Given the description of an element on the screen output the (x, y) to click on. 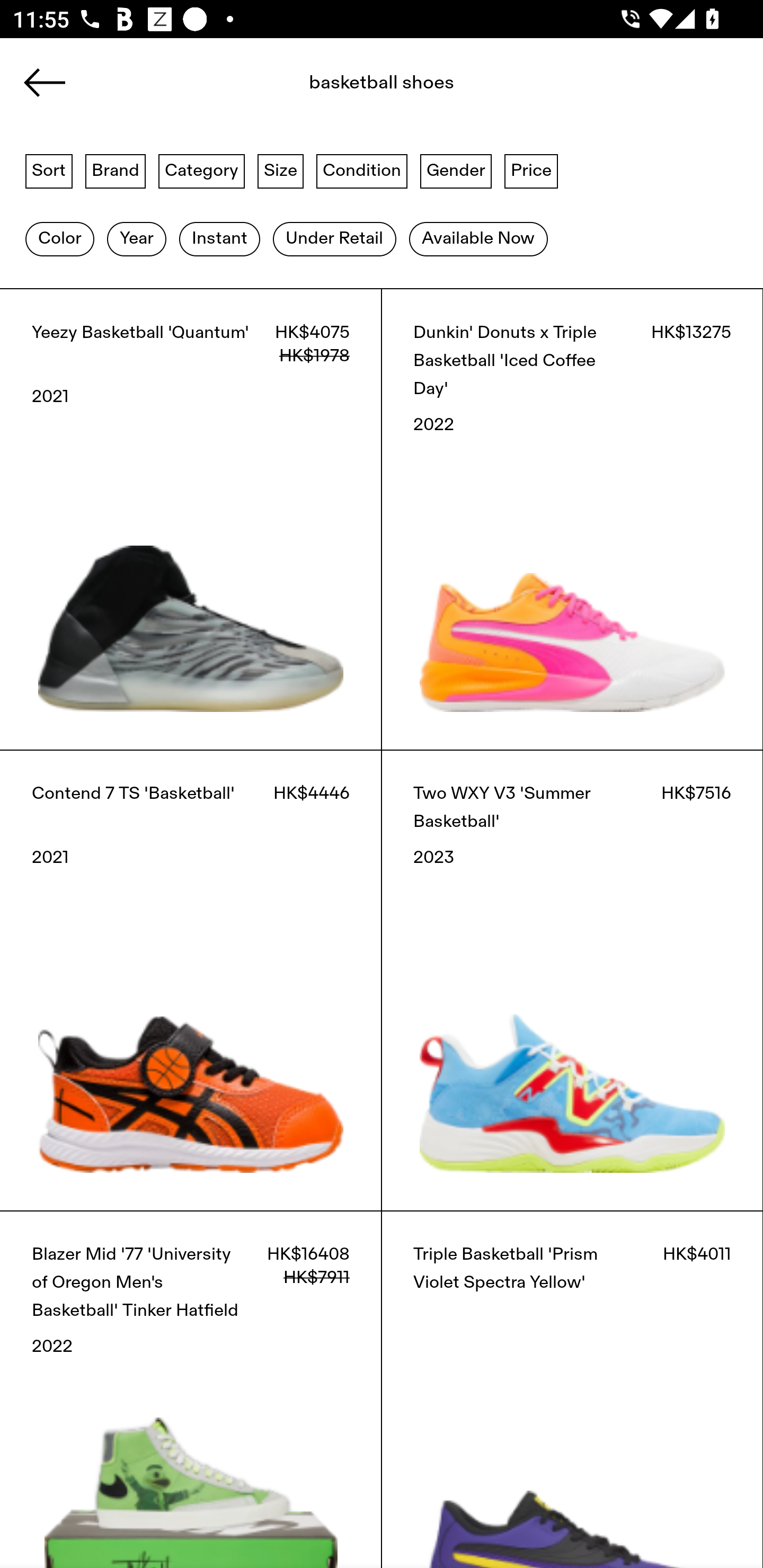
football shoes (340, 88)
Sort (48, 170)
Brand (115, 170)
Category (201, 170)
Size (280, 170)
Condition (361, 170)
Gender (455, 170)
Price (530, 170)
Color (59, 239)
Year (136, 239)
Instant (219, 239)
Under Retail (334, 239)
Available Now (477, 239)
Yeezy Basketball 'Quantum' HK$4075 HK$1978 2021 (190, 518)
Contend 7 TS 'Basketball' HK$4446 2021 (190, 979)
Two WXY V3 'Summer Basketball' HK$7516 2023 (572, 979)
